Given the description of an element on the screen output the (x, y) to click on. 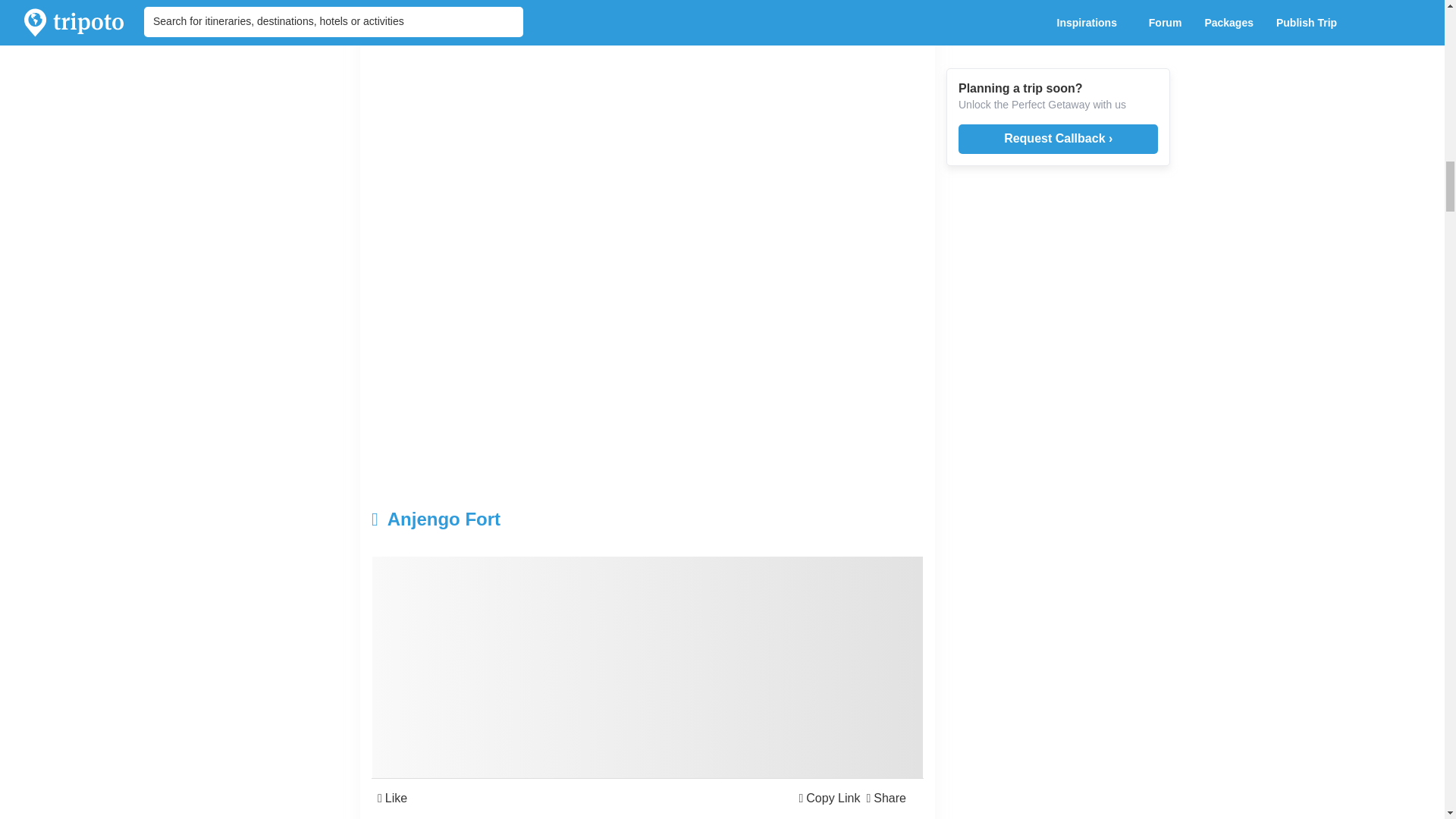
Anjengo Fort (555, 519)
